Given the description of an element on the screen output the (x, y) to click on. 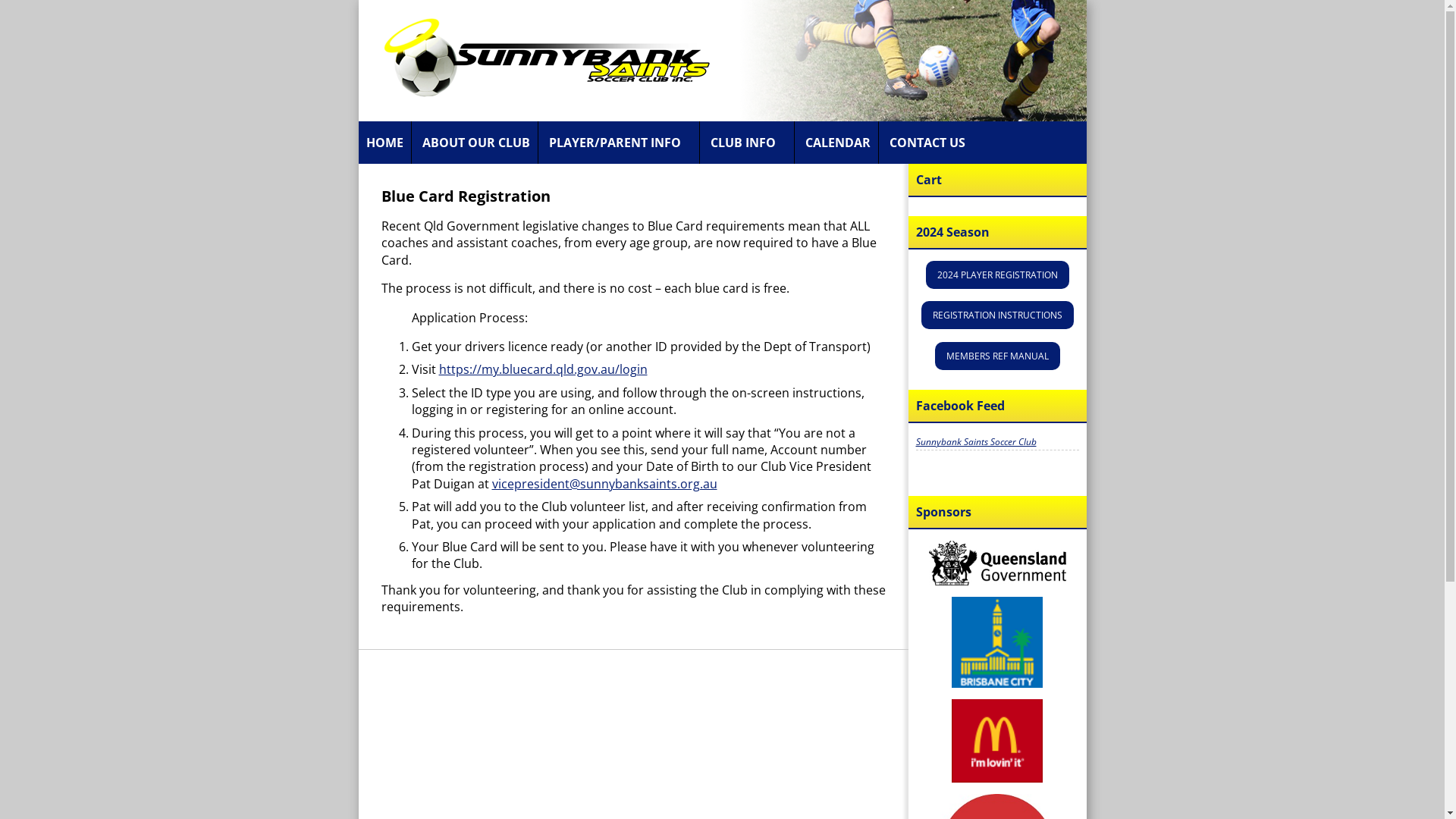
REGISTRATION INSTRUCTIONS Element type: text (996, 315)
Sunnybank Saints Soccer Club Element type: text (976, 441)
HOME Element type: text (383, 142)
CALENDAR Element type: text (837, 142)
2024 PLAYER REGISTRATION Element type: text (996, 274)
MEMBERS REF MANUAL Element type: text (996, 356)
Sunnybank Saints Soccer Club Inc. Element type: hover (535, 59)
CONTACT US Element type: text (926, 142)
https://my.bluecard.qld.gov.au/login Element type: text (542, 368)
ABOUT OUR CLUB Element type: text (475, 142)
vicepresident@sunnybanksaints.org.au Element type: text (603, 483)
